Given the description of an element on the screen output the (x, y) to click on. 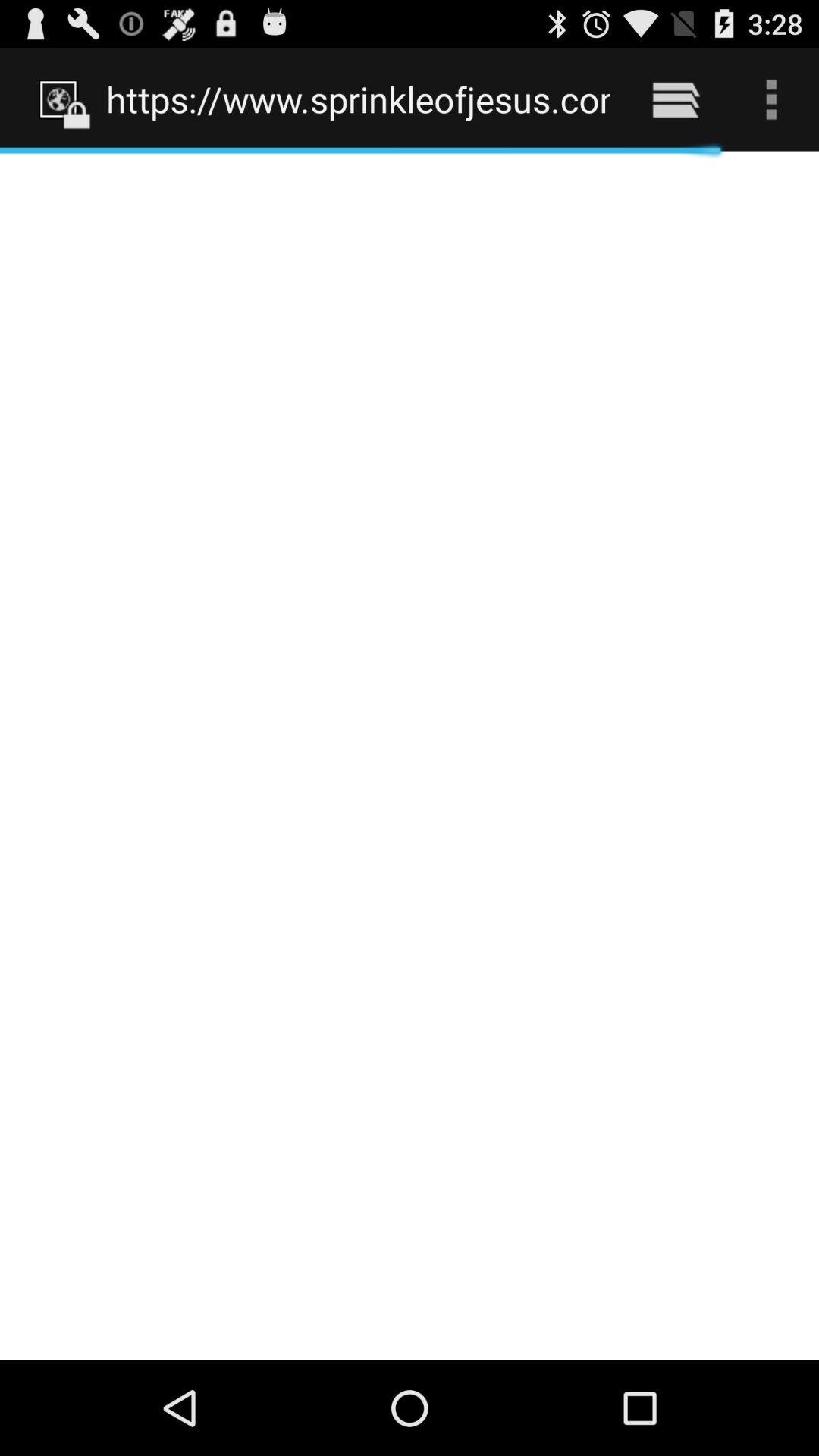
press the item at the center (409, 755)
